Given the description of an element on the screen output the (x, y) to click on. 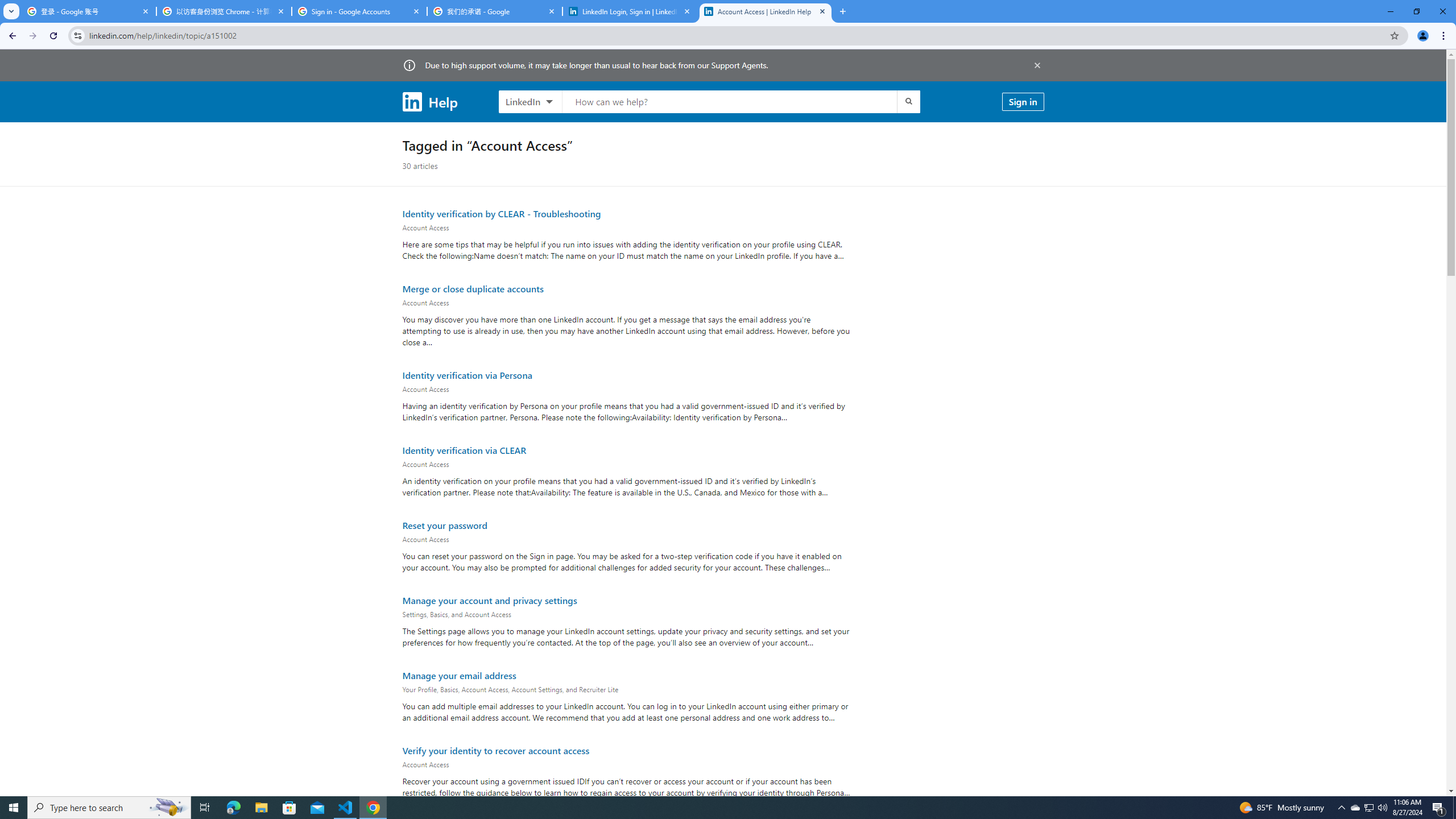
Identity verification by CLEAR - Troubleshooting (501, 213)
Identity verification via CLEAR (464, 449)
Merge or close duplicate accounts (472, 287)
LinkedIn Login, Sign in | LinkedIn (630, 11)
LinkedIn products to search, LinkedIn selected (530, 101)
Submit search (908, 101)
